Given the description of an element on the screen output the (x, y) to click on. 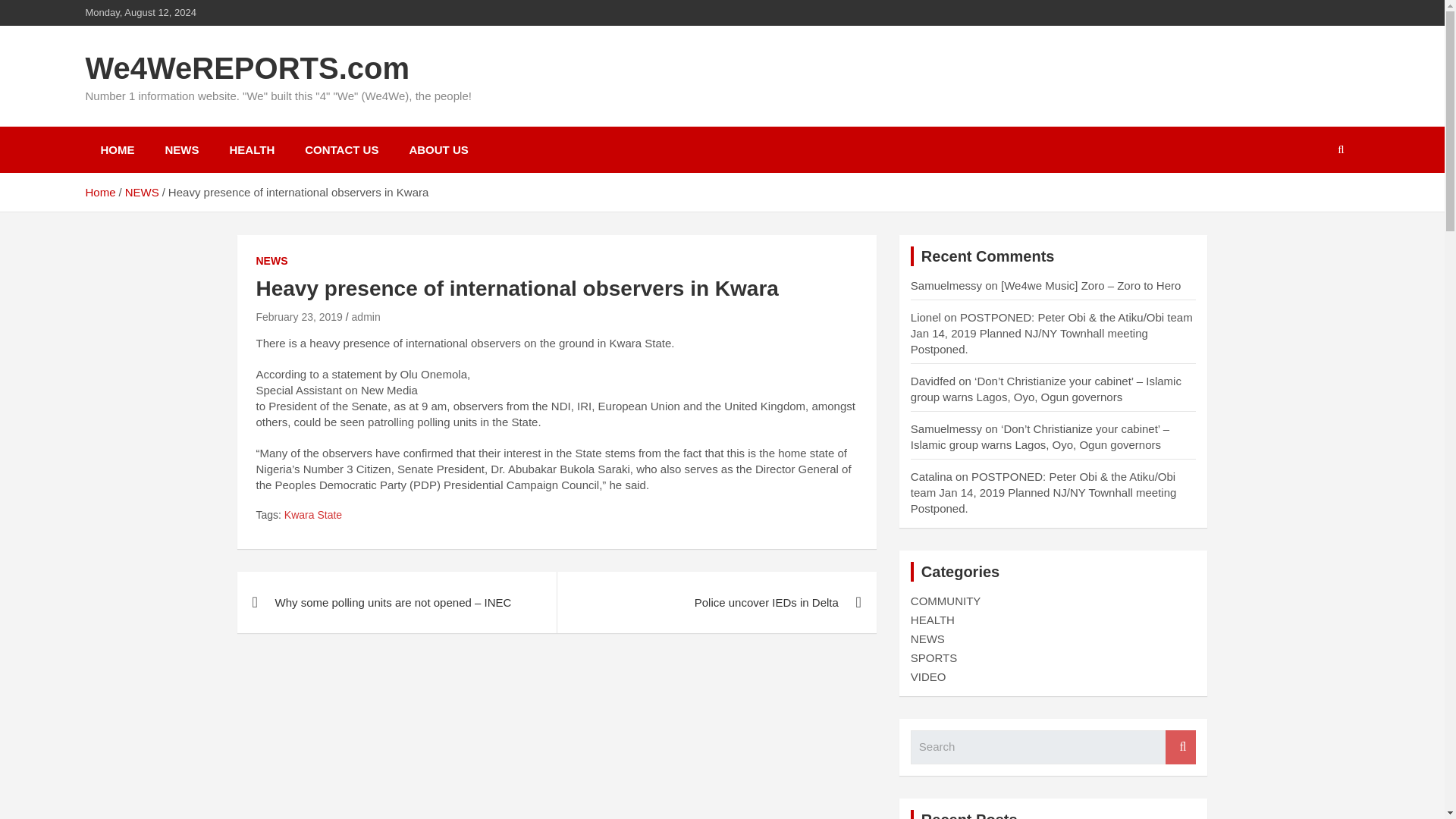
Police uncover IEDs in Delta (716, 602)
Samuelmessy (946, 428)
Samuelmessy (946, 285)
Davidfed (933, 380)
HOME (116, 149)
Search (1180, 747)
Catalina (931, 476)
NEWS (181, 149)
NEWS (141, 192)
VIDEO (928, 676)
